Given the description of an element on the screen output the (x, y) to click on. 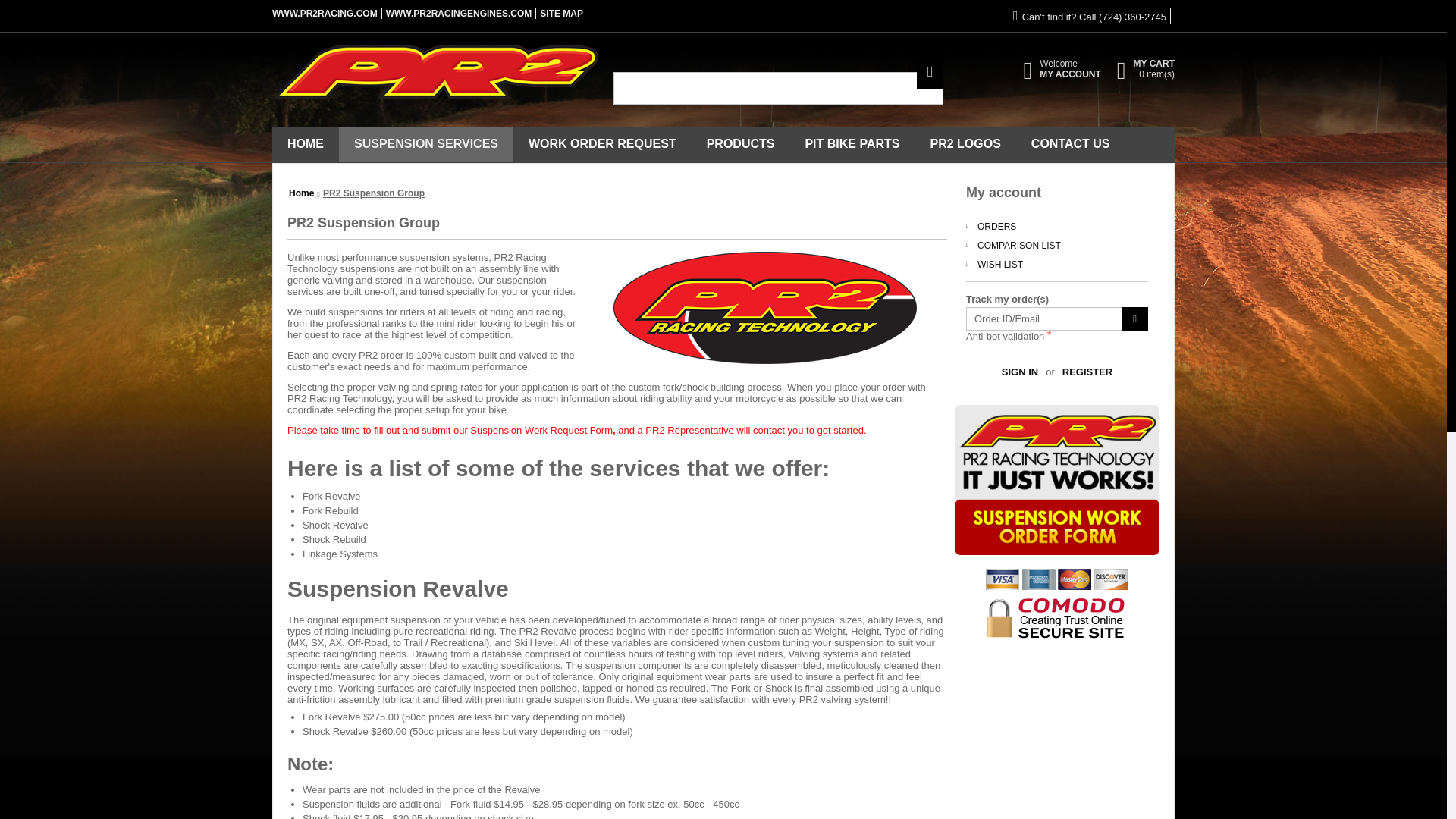
SUSPENSION SERVICES (426, 144)
WWW.PR2RACING.COM (324, 13)
SITE MAP (561, 13)
WWW.PR2RACINGENGINES.COM (458, 13)
HOME (305, 144)
WORK ORDER REQUEST (602, 144)
PRODUCTS (740, 144)
